Given the description of an element on the screen output the (x, y) to click on. 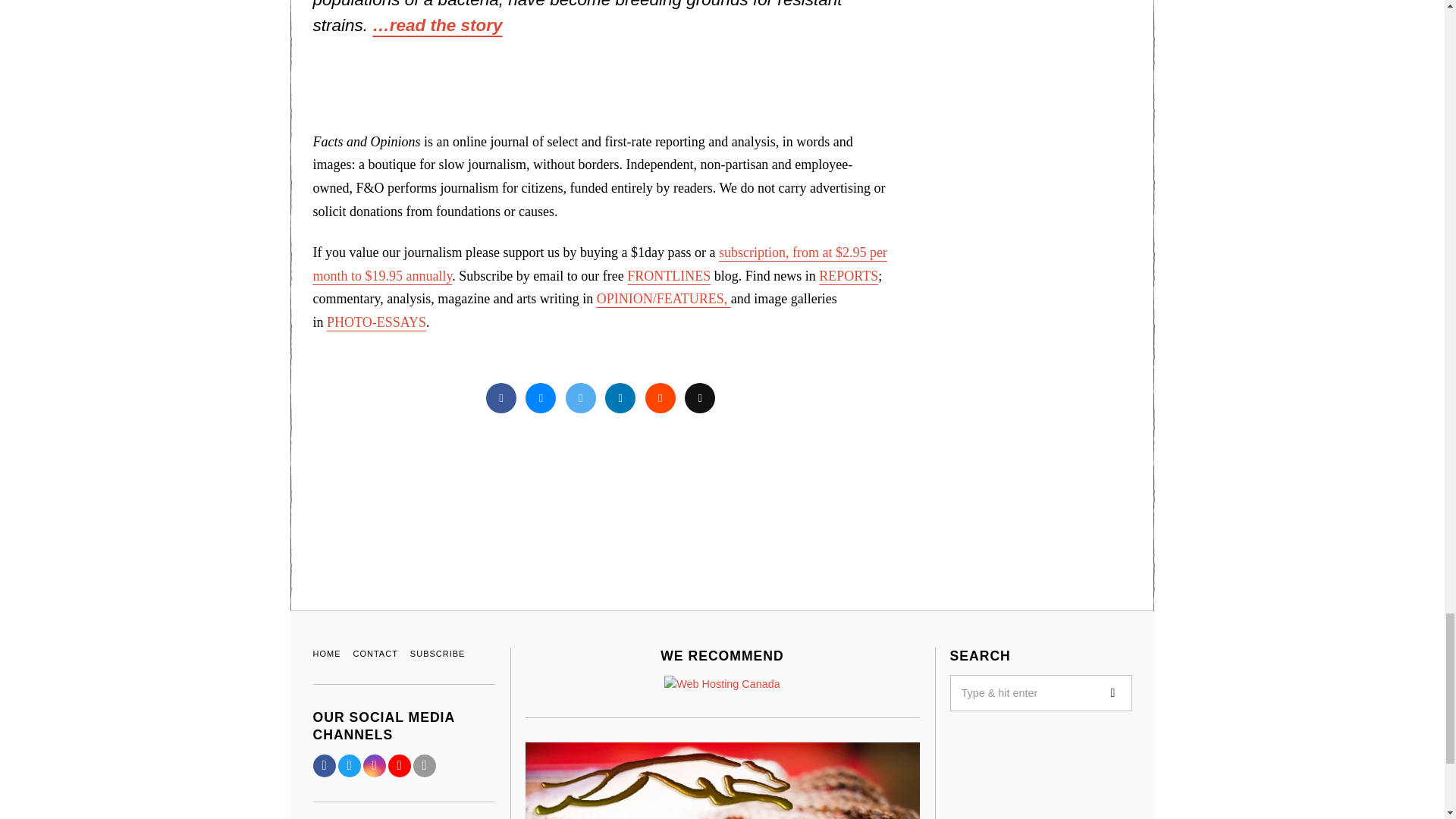
REPORTS (847, 275)
FRONTLINES (668, 275)
Permalink to Germ Warfare (437, 25)
Subscribe page (599, 263)
